Given the description of an element on the screen output the (x, y) to click on. 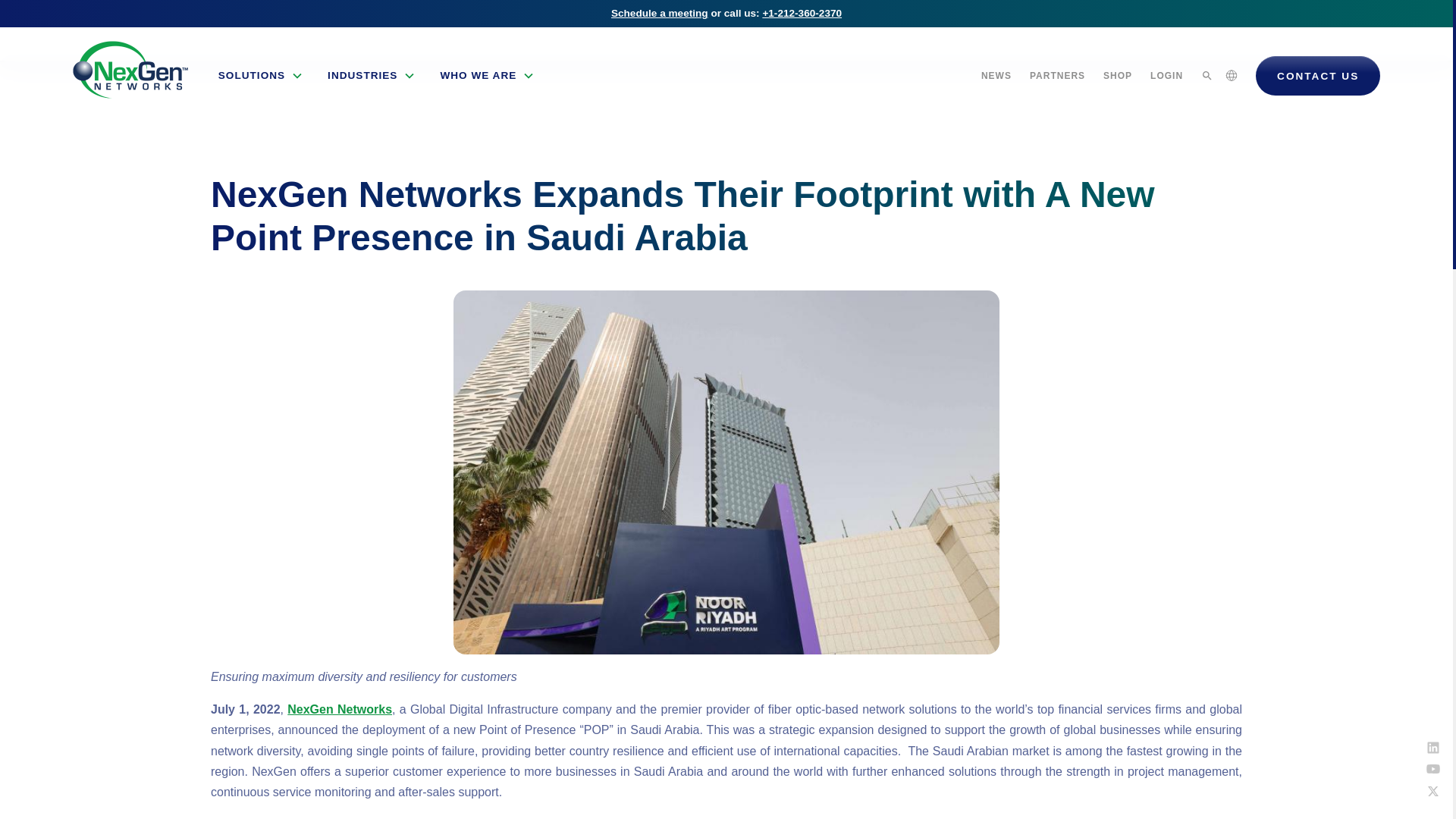
PARTNERS (1056, 75)
Chatbot (1391, 758)
Schedule a meeting (659, 12)
